Given the description of an element on the screen output the (x, y) to click on. 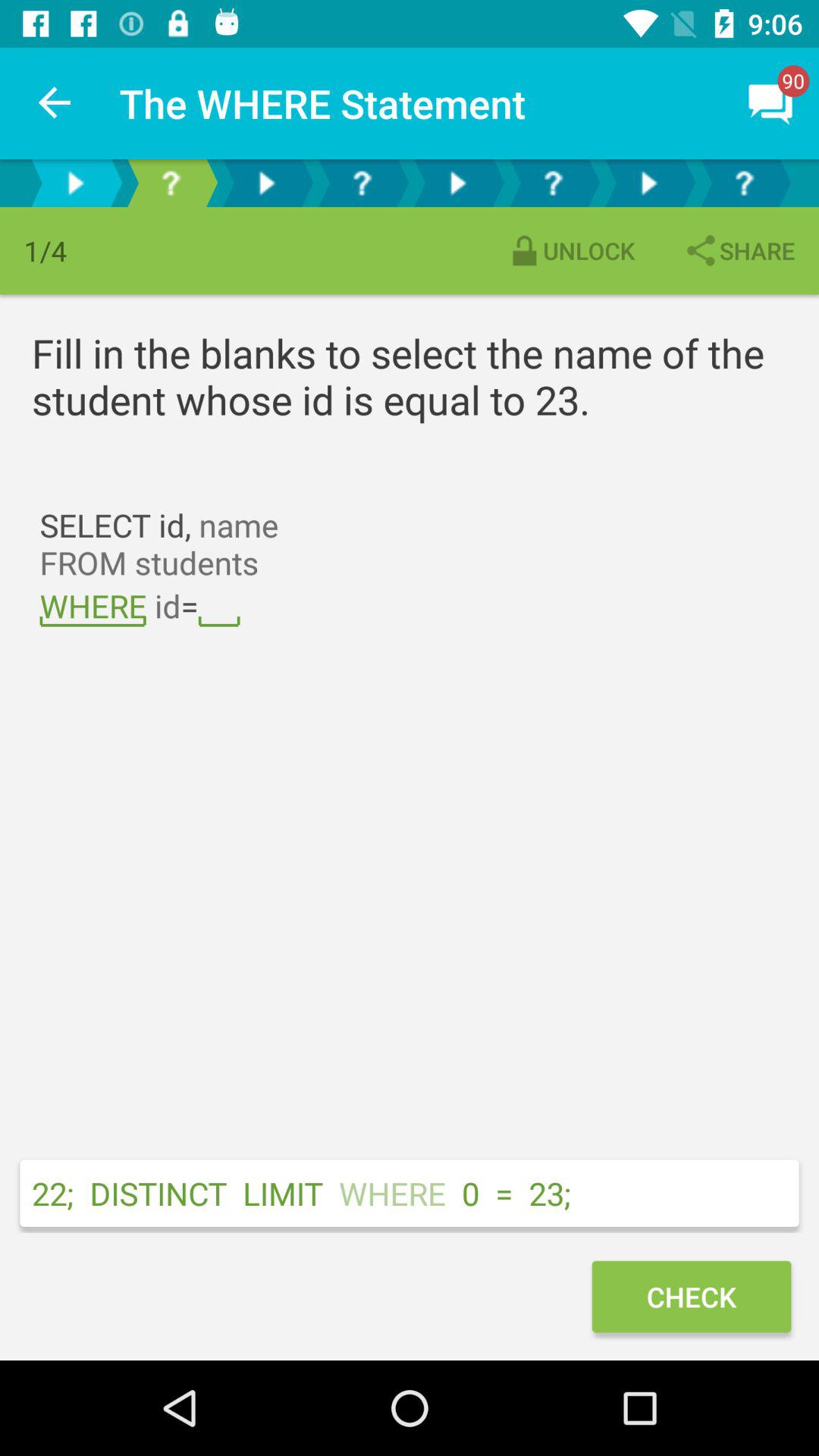
launch the check icon (691, 1296)
